Given the description of an element on the screen output the (x, y) to click on. 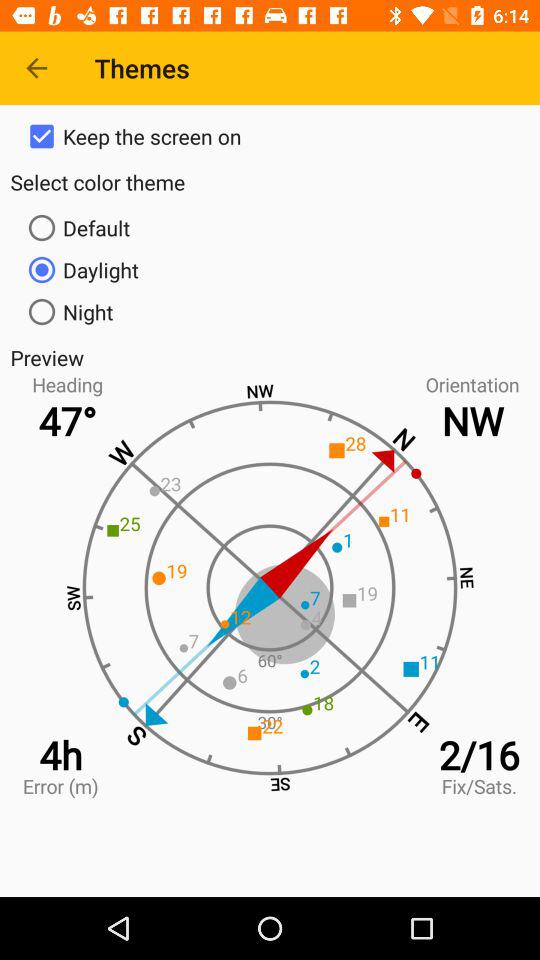
open item above the keep the screen (36, 68)
